Given the description of an element on the screen output the (x, y) to click on. 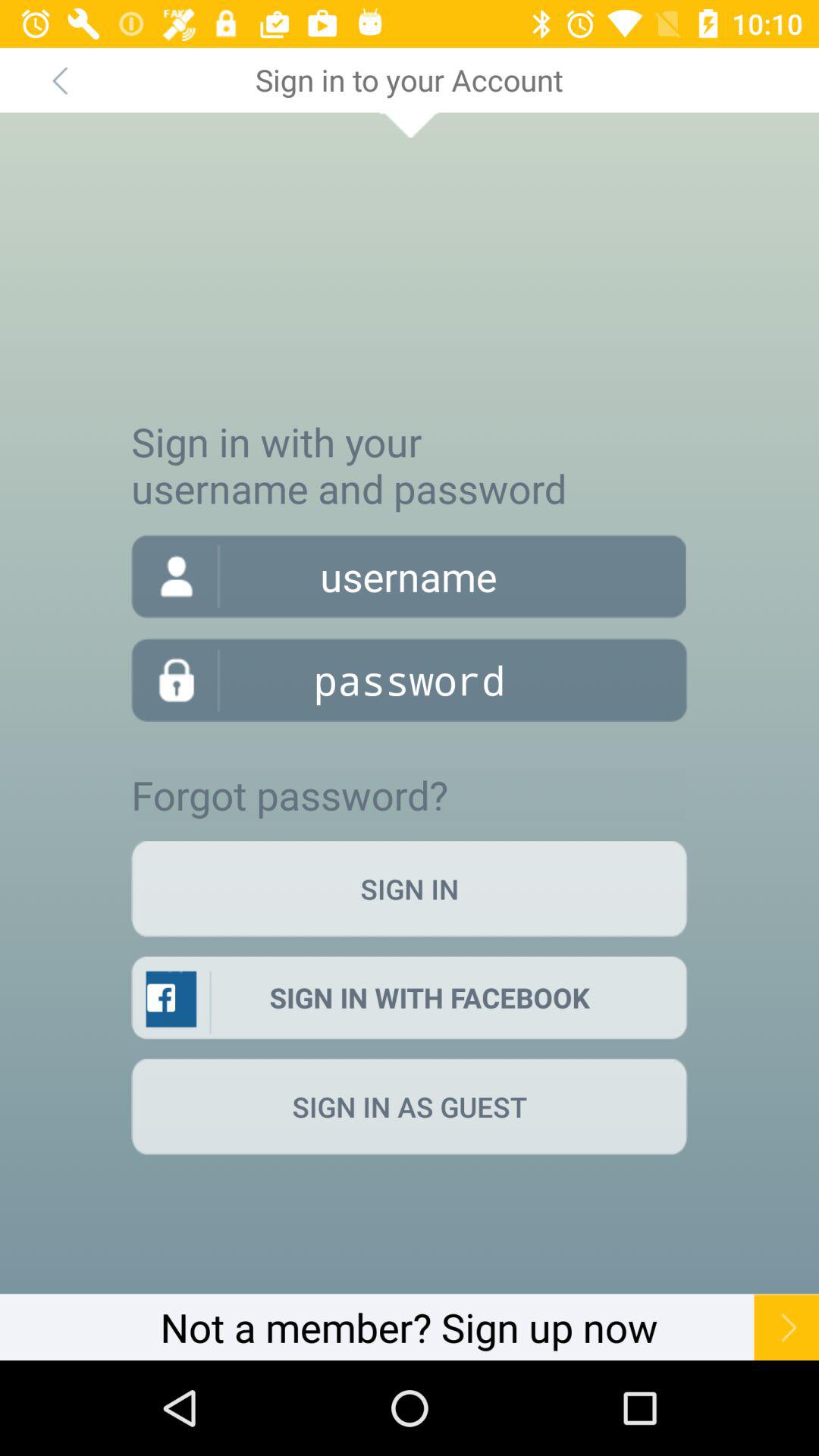
go back (59, 79)
